Given the description of an element on the screen output the (x, y) to click on. 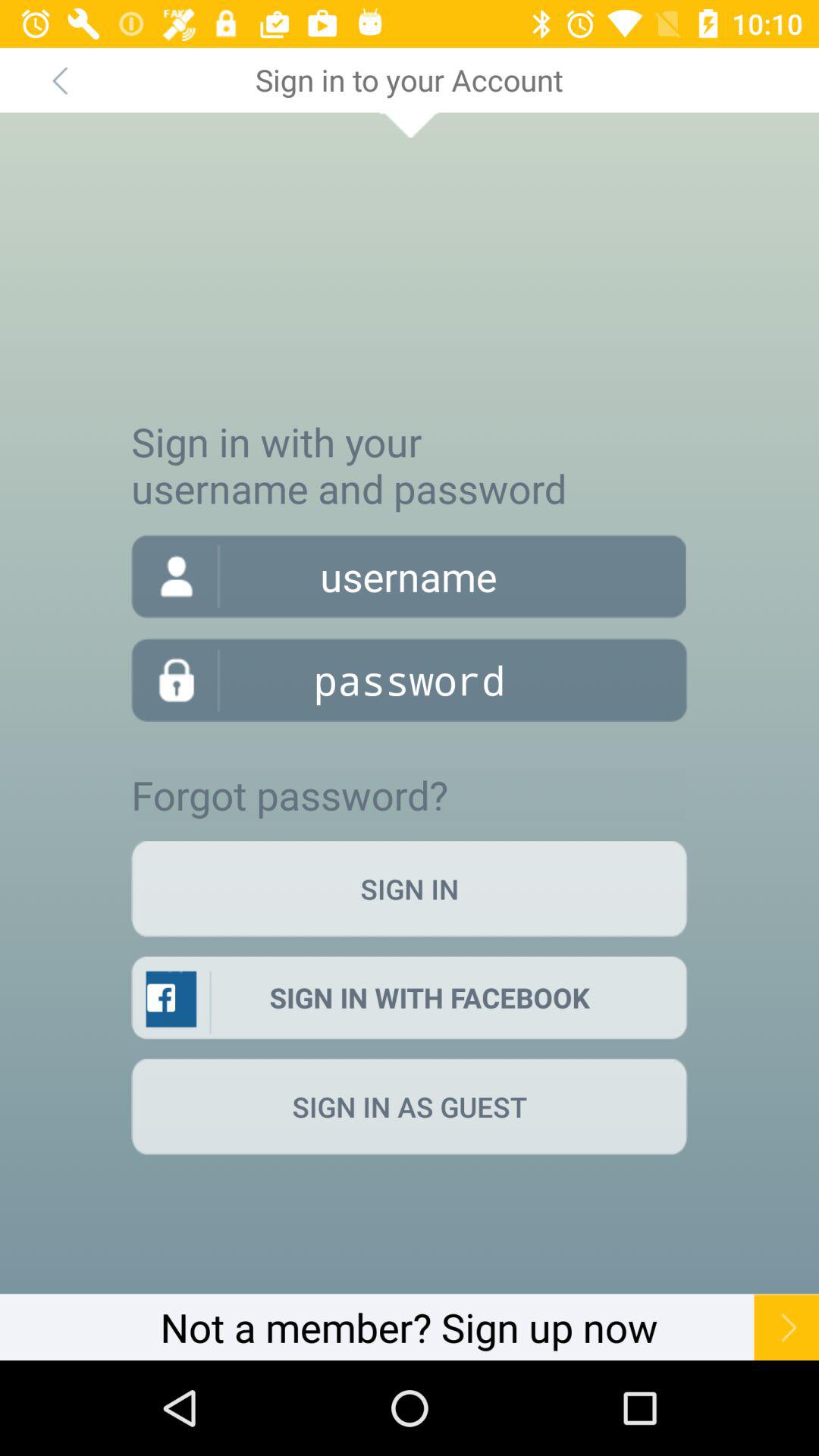
go back (59, 79)
